Given the description of an element on the screen output the (x, y) to click on. 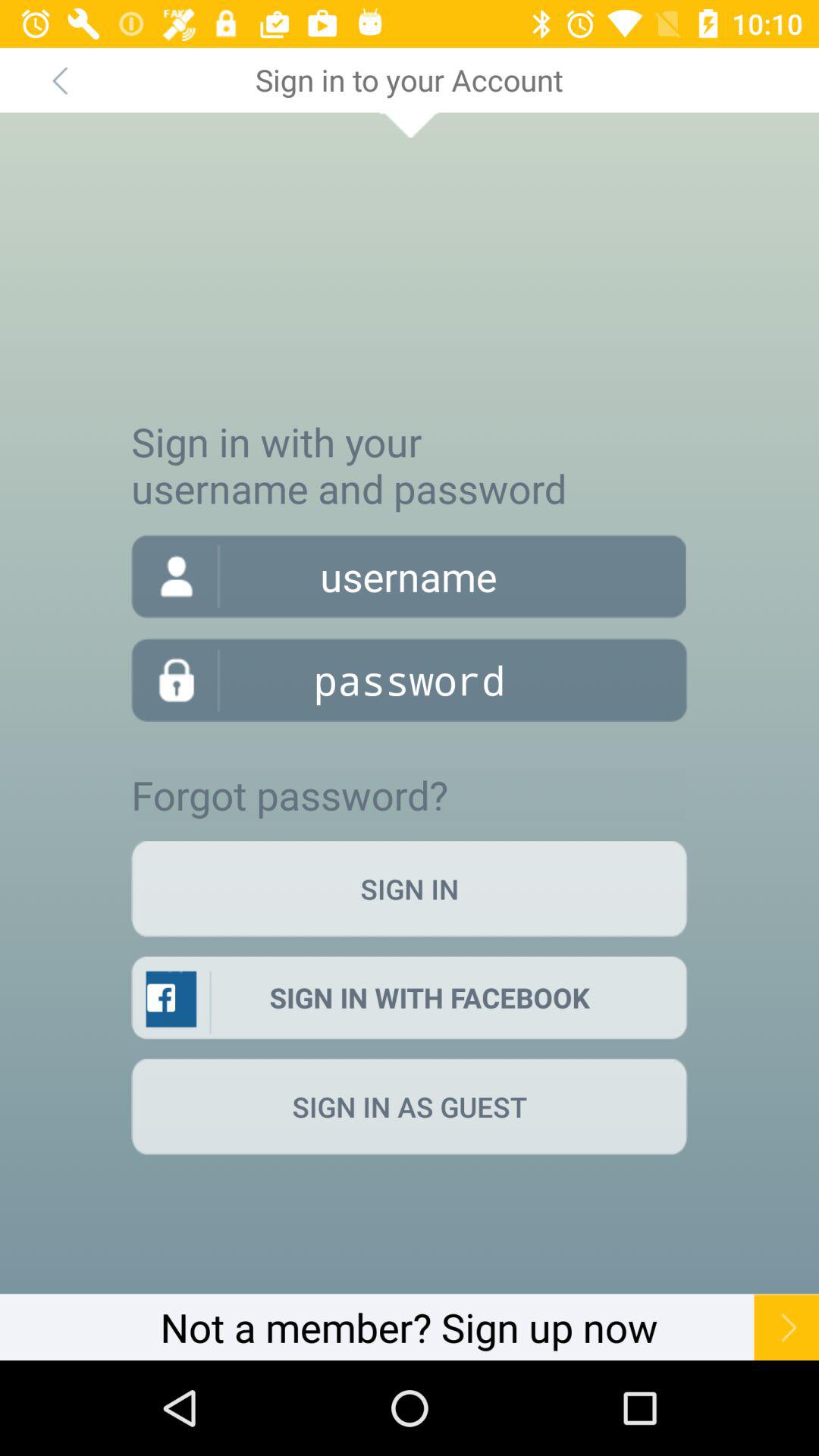
go back (59, 79)
